Given the description of an element on the screen output the (x, y) to click on. 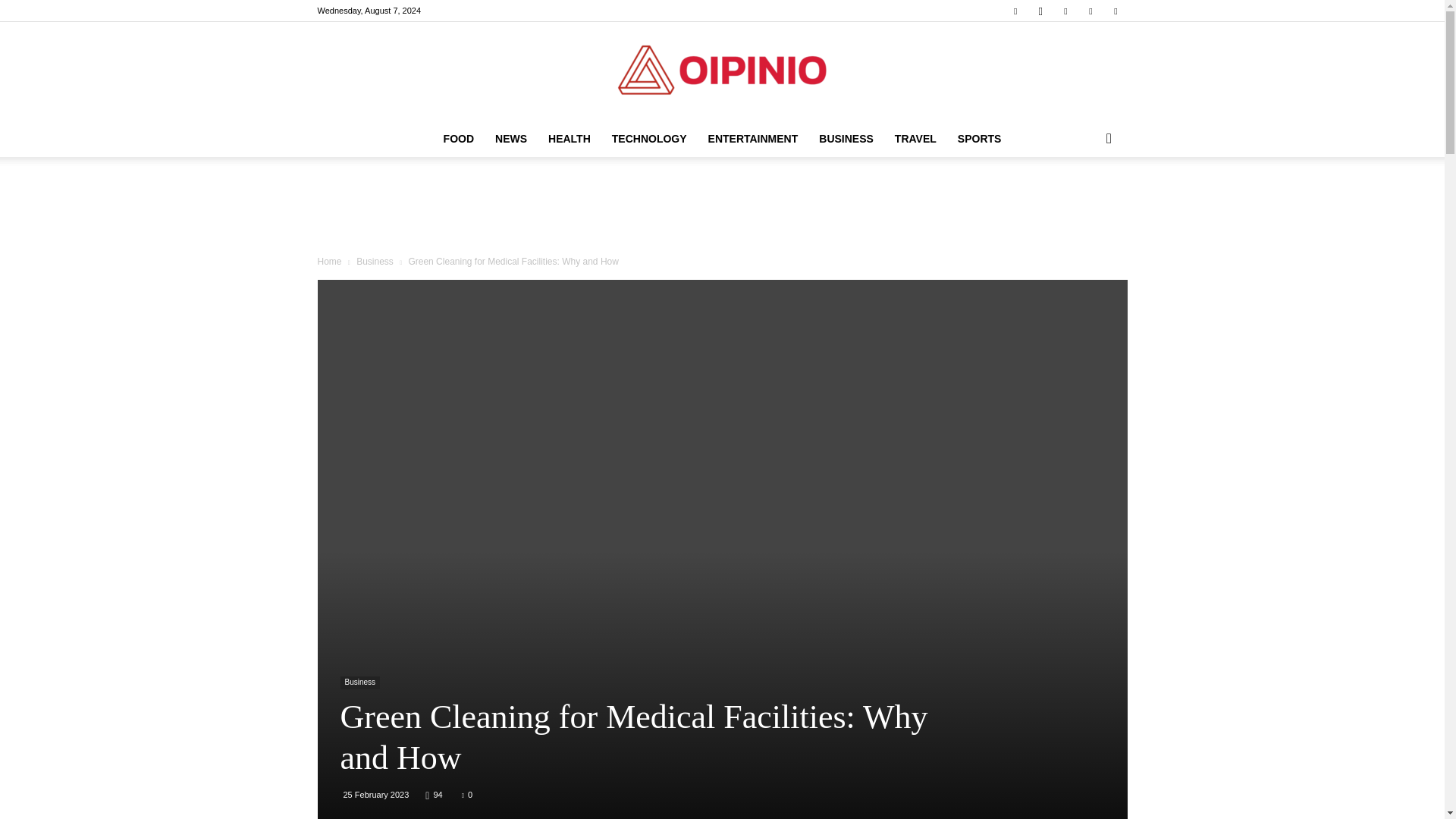
HEALTH (569, 138)
Pinterest (1065, 10)
Instagram (1040, 10)
View all posts in Business (374, 261)
Twitter (1114, 10)
Home (328, 261)
ENTERTAINMENT (753, 138)
SPORTS (979, 138)
FOOD (458, 138)
Search (1085, 199)
